Given the description of an element on the screen output the (x, y) to click on. 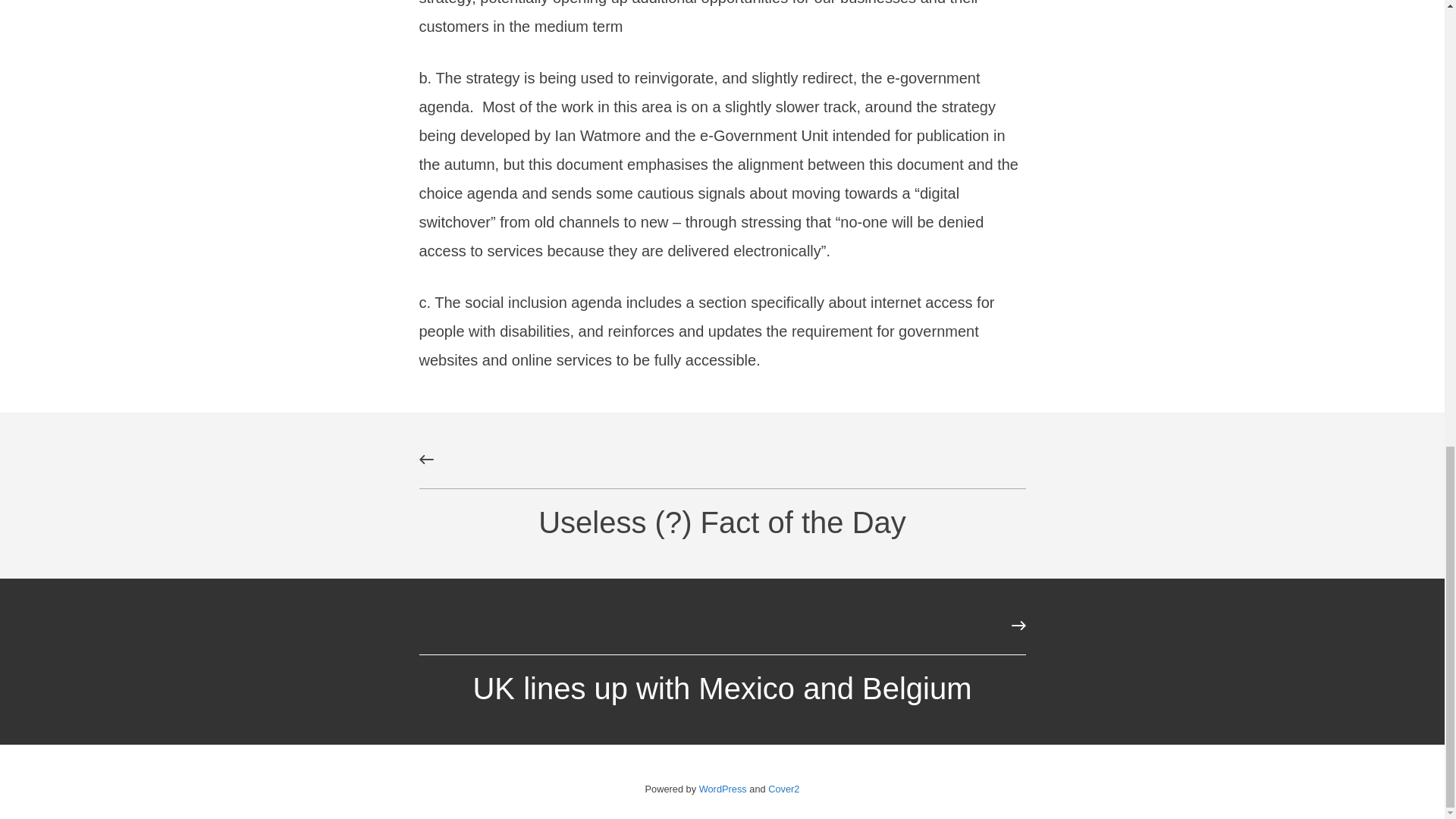
Cover2 (783, 788)
WordPress (722, 788)
Next (1017, 625)
Previous (426, 459)
